Given the description of an element on the screen output the (x, y) to click on. 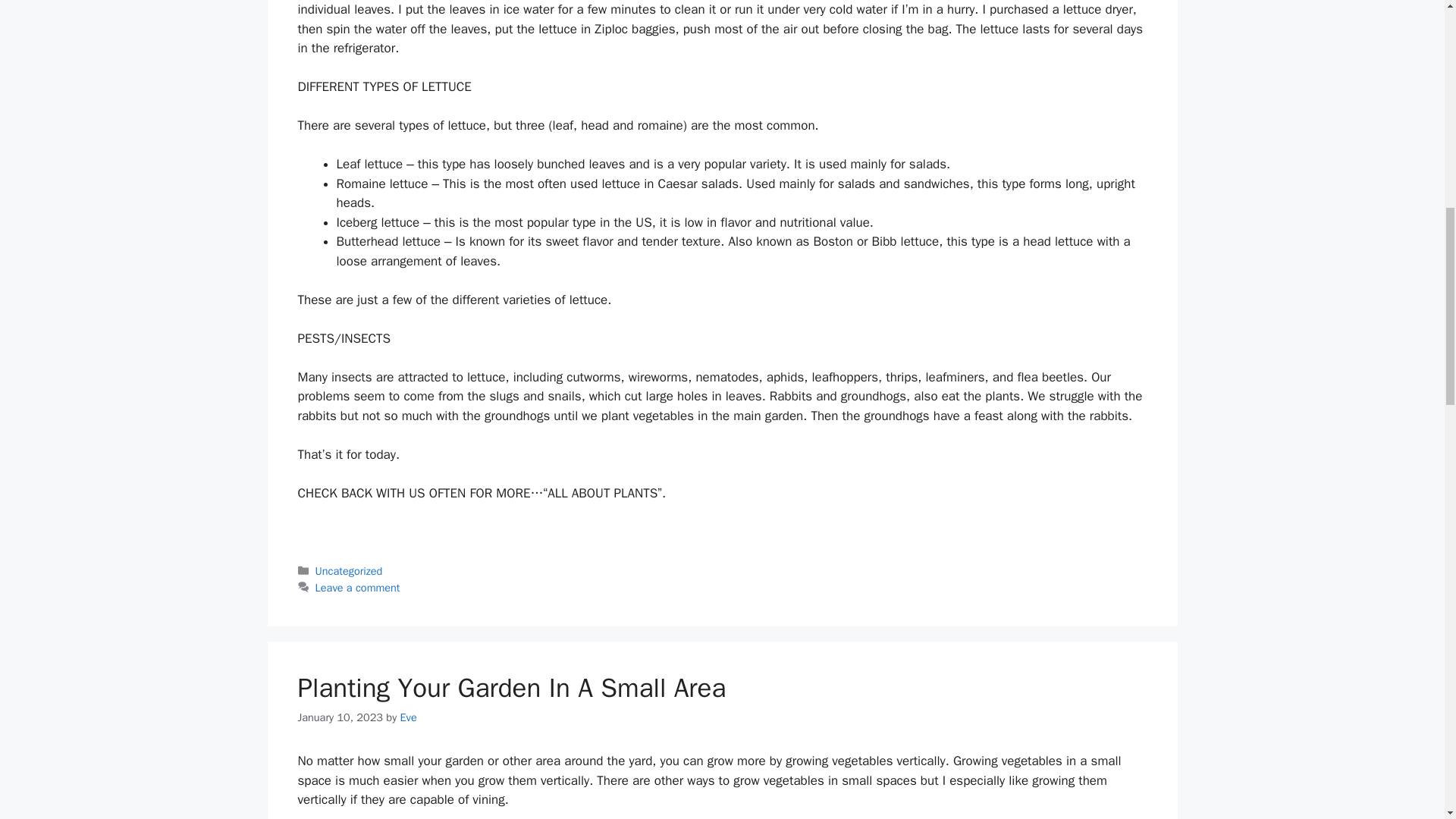
View all posts by Eve (408, 716)
Eve (408, 716)
Planting Your Garden In A Small Area (511, 687)
Leave a comment (357, 587)
Uncategorized (348, 571)
